Given the description of an element on the screen output the (x, y) to click on. 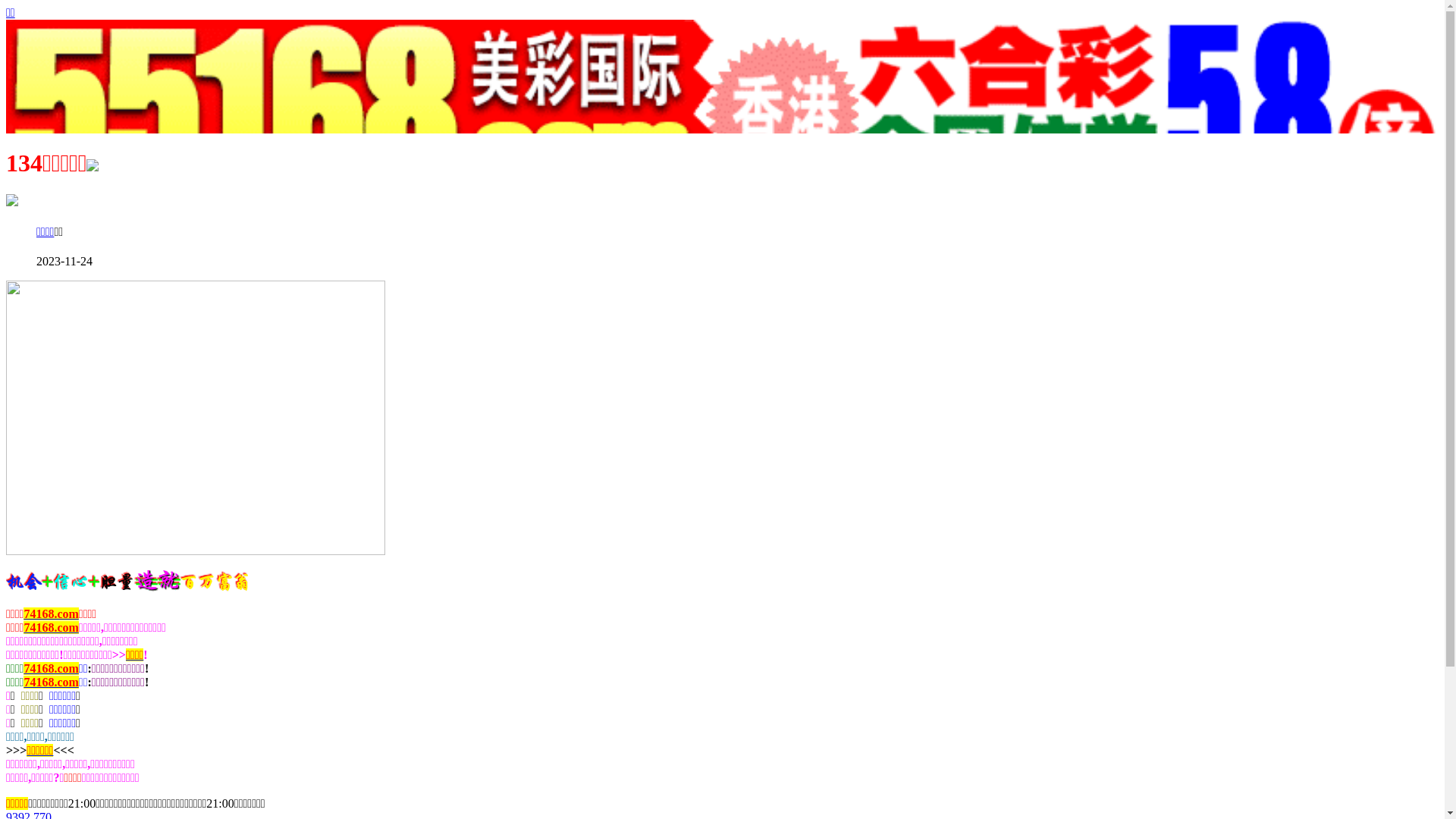
74168.com Element type: text (50, 681)
74168.com Element type: text (50, 613)
74168.com Element type: text (50, 627)
74168.com Element type: text (50, 668)
